Given the description of an element on the screen output the (x, y) to click on. 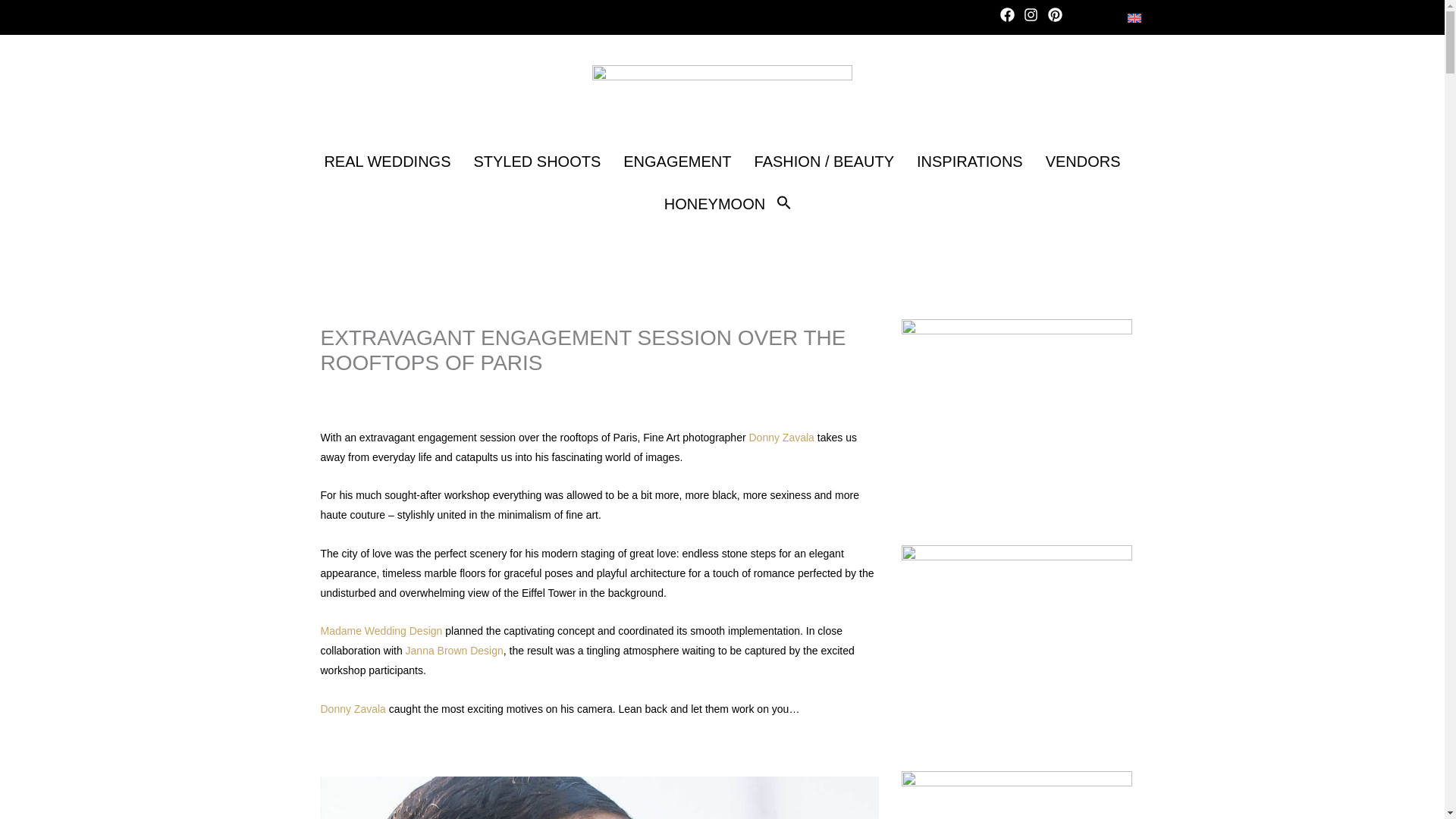
Madame Wedding Design (381, 630)
Facebook (1010, 17)
REAL WEDDINGS (387, 161)
Donny Zavala (781, 437)
STYLED SHOOTS (536, 161)
ENGAGEMENT (676, 161)
HONEYMOON (714, 203)
Janna Brown Design (454, 650)
Instagram (1033, 17)
Donny Zavala (352, 708)
